Given the description of an element on the screen output the (x, y) to click on. 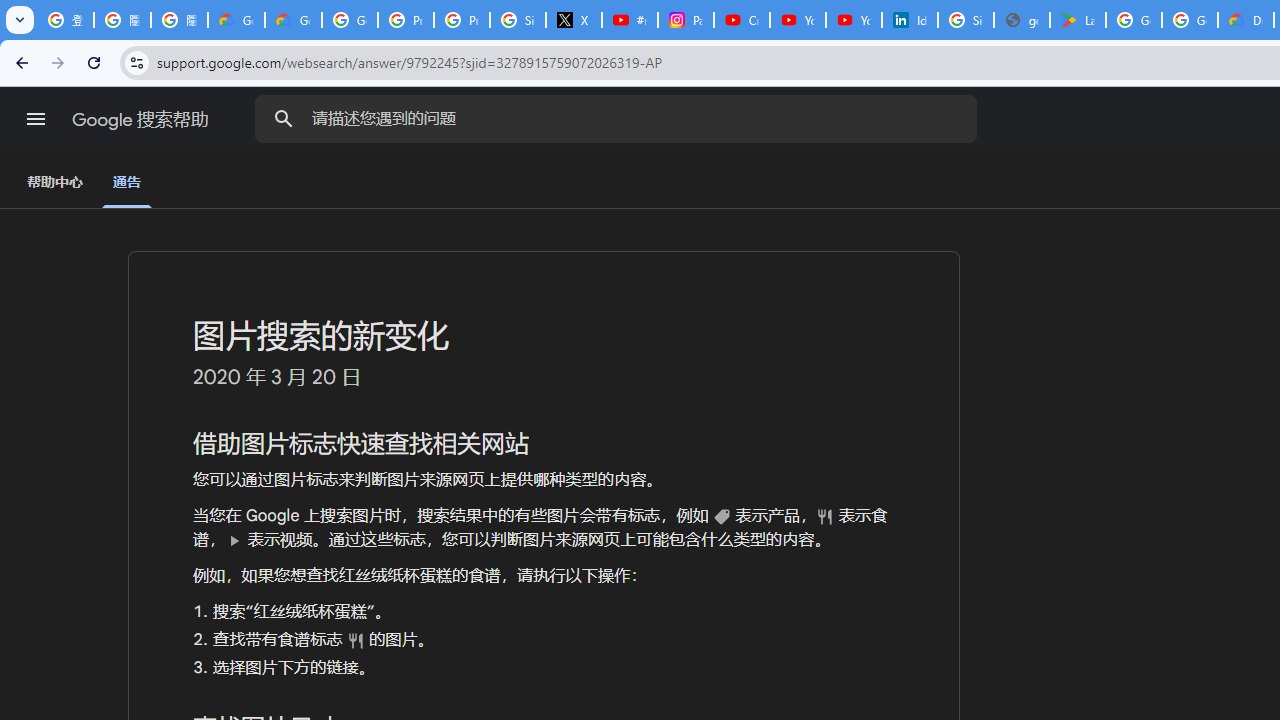
Last Shelter: Survival - Apps on Google Play (1077, 20)
Sign in - Google Accounts (966, 20)
Google Workspace - Specific Terms (1190, 20)
